Given the description of an element on the screen output the (x, y) to click on. 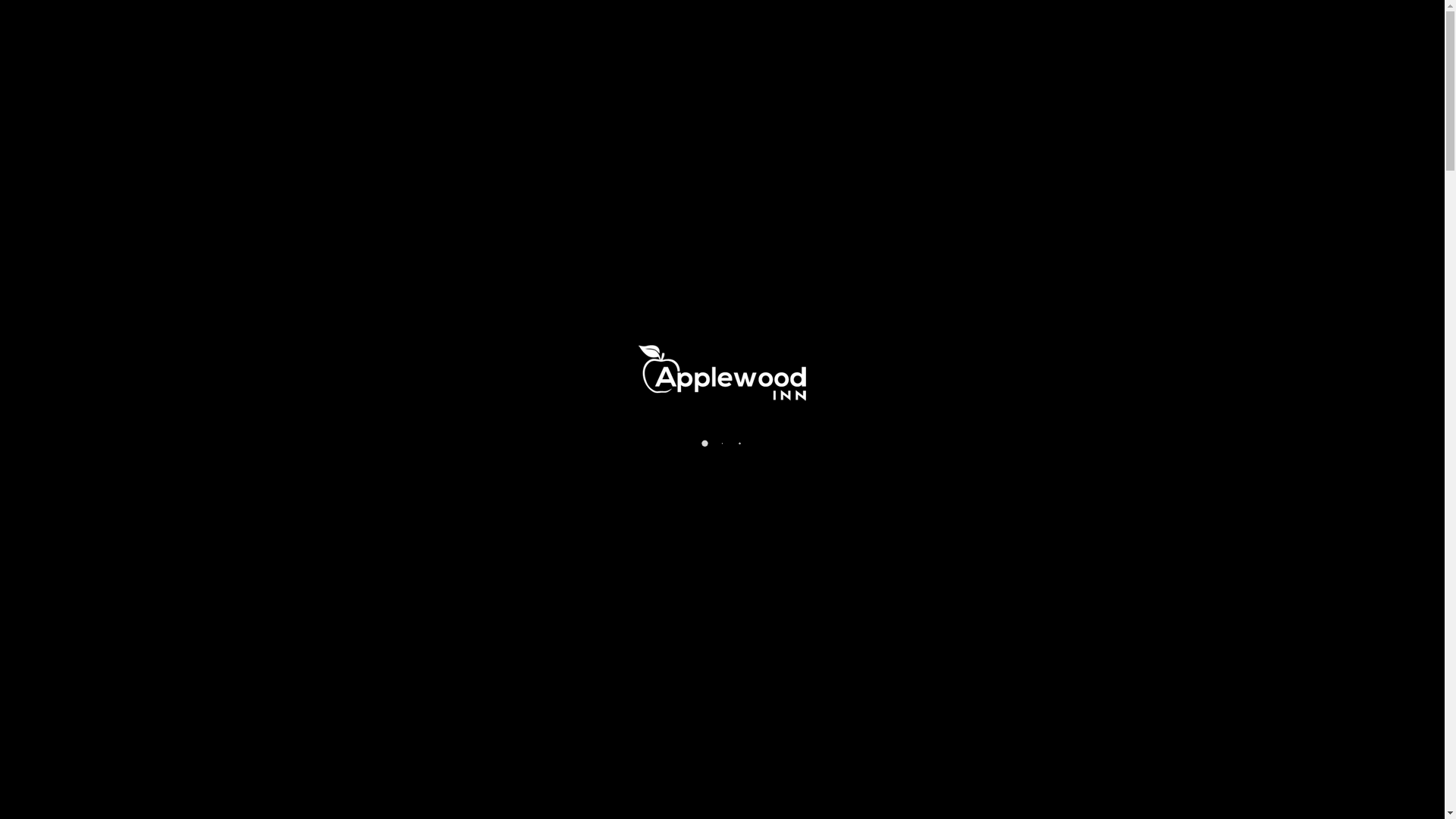
OUR STORY Element type: text (971, 34)
Historic Twillingate Bed & Breakfast Element type: hover (391, 34)
HOME Element type: text (898, 34)
ROOMS Element type: text (1046, 34)
CONTACT Element type: text (1116, 34)
